Given the description of an element on the screen output the (x, y) to click on. 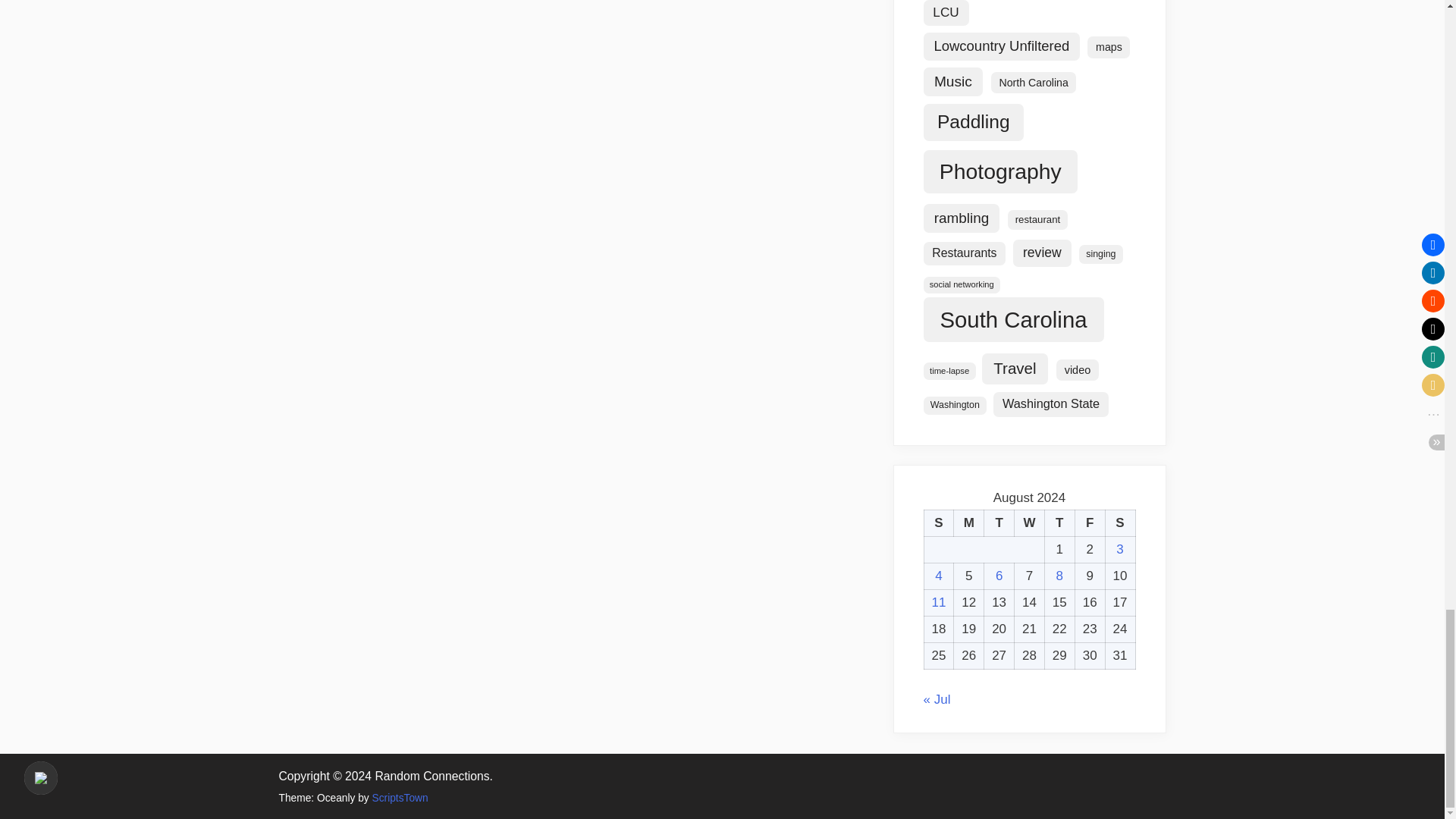
Sunday (938, 523)
Saturday (1120, 523)
Monday (968, 523)
Tuesday (999, 523)
Wednesday (1029, 523)
Friday (1089, 523)
Thursday (1058, 523)
